Given the description of an element on the screen output the (x, y) to click on. 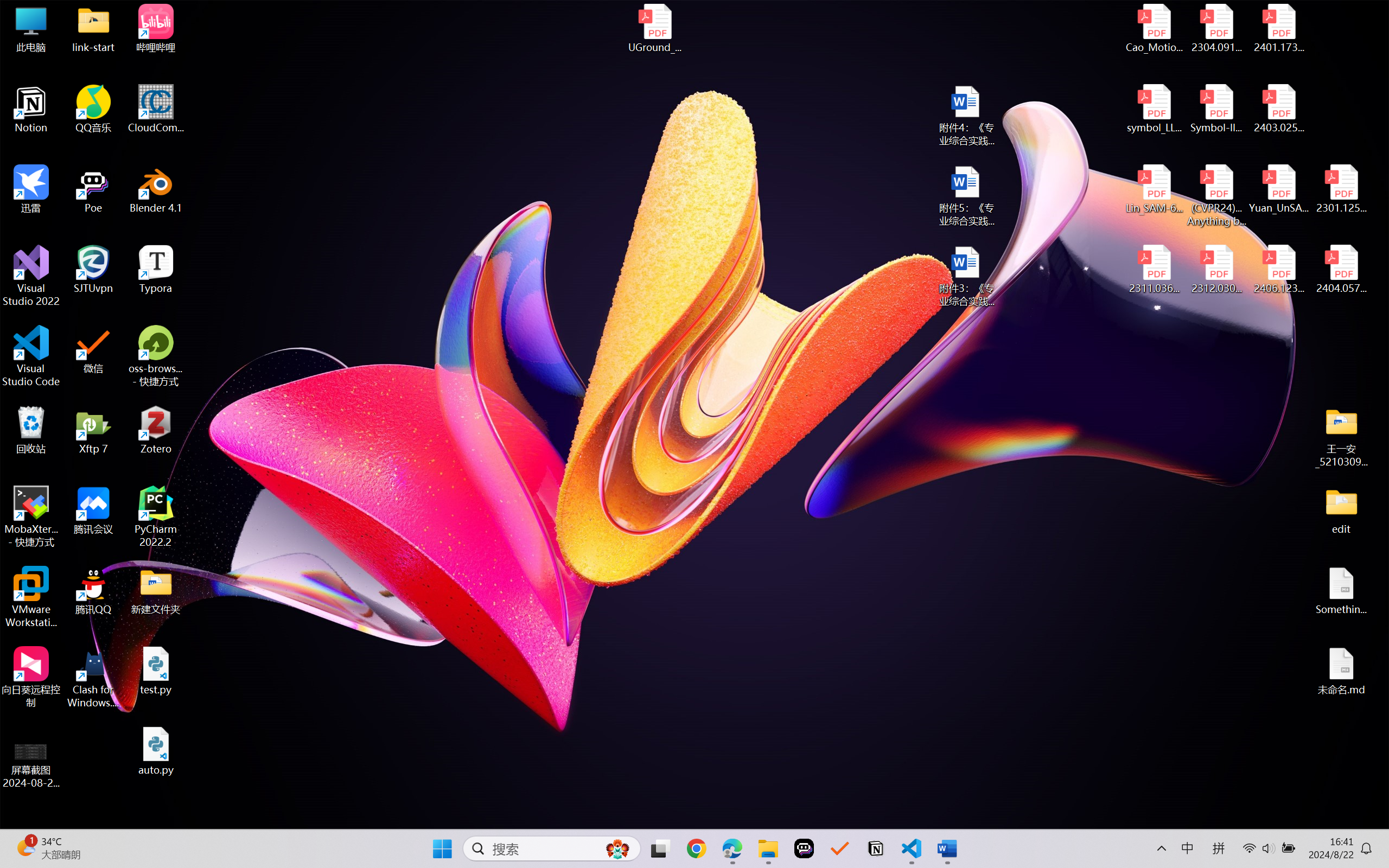
2406.12373v2.pdf (1278, 269)
2311.03658v2.pdf (1154, 269)
Symbol-llm-v2.pdf (1216, 109)
Typora (156, 269)
2403.02502v1.pdf (1278, 109)
SJTUvpn (93, 269)
